Given the description of an element on the screen output the (x, y) to click on. 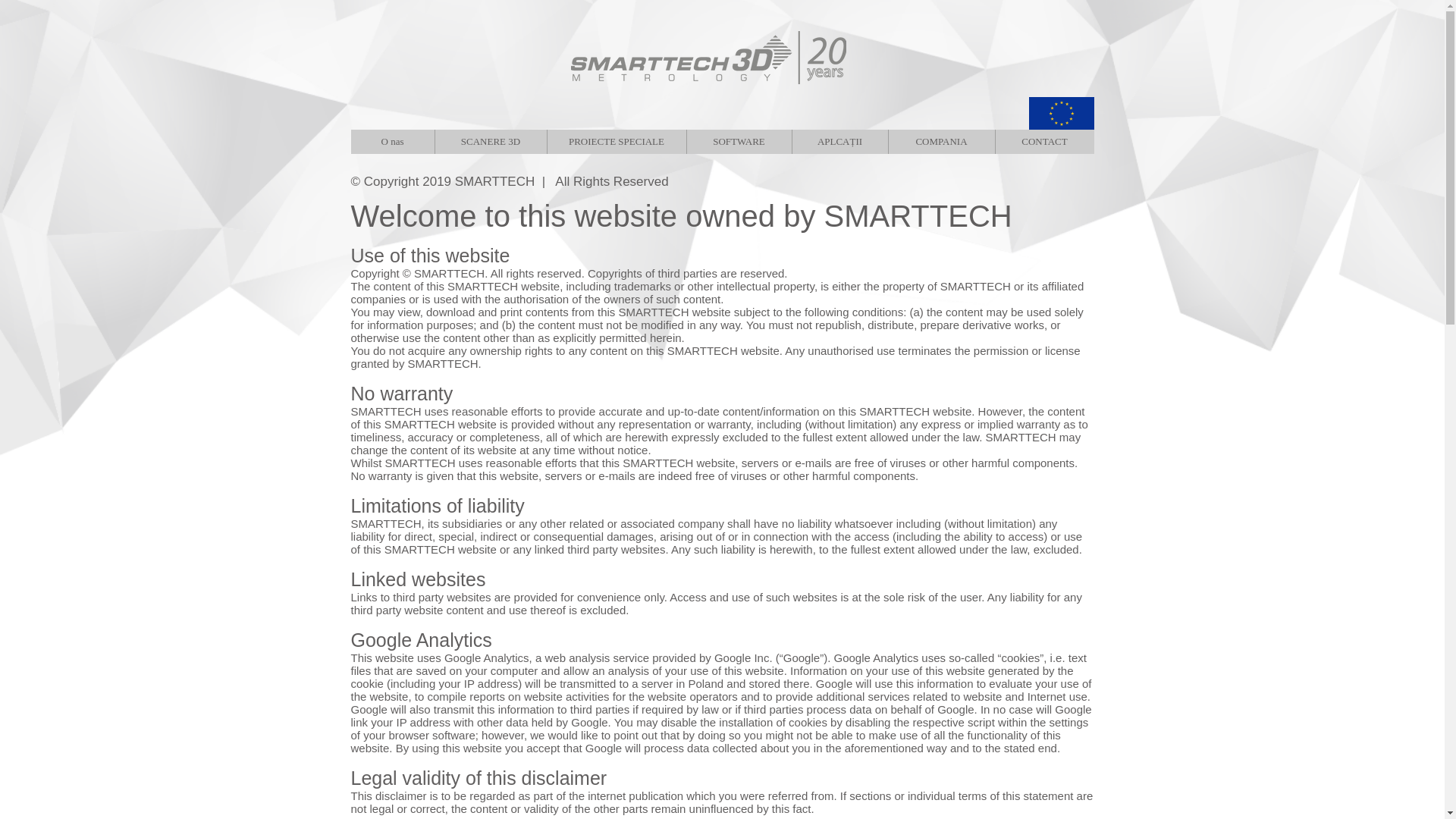
COMPANIA (940, 141)
CONTACT (1044, 141)
O nas (391, 141)
SCANERE 3D (489, 141)
PROIECTE SPECIALE (615, 141)
SOFTWARE (737, 141)
